Given the description of an element on the screen output the (x, y) to click on. 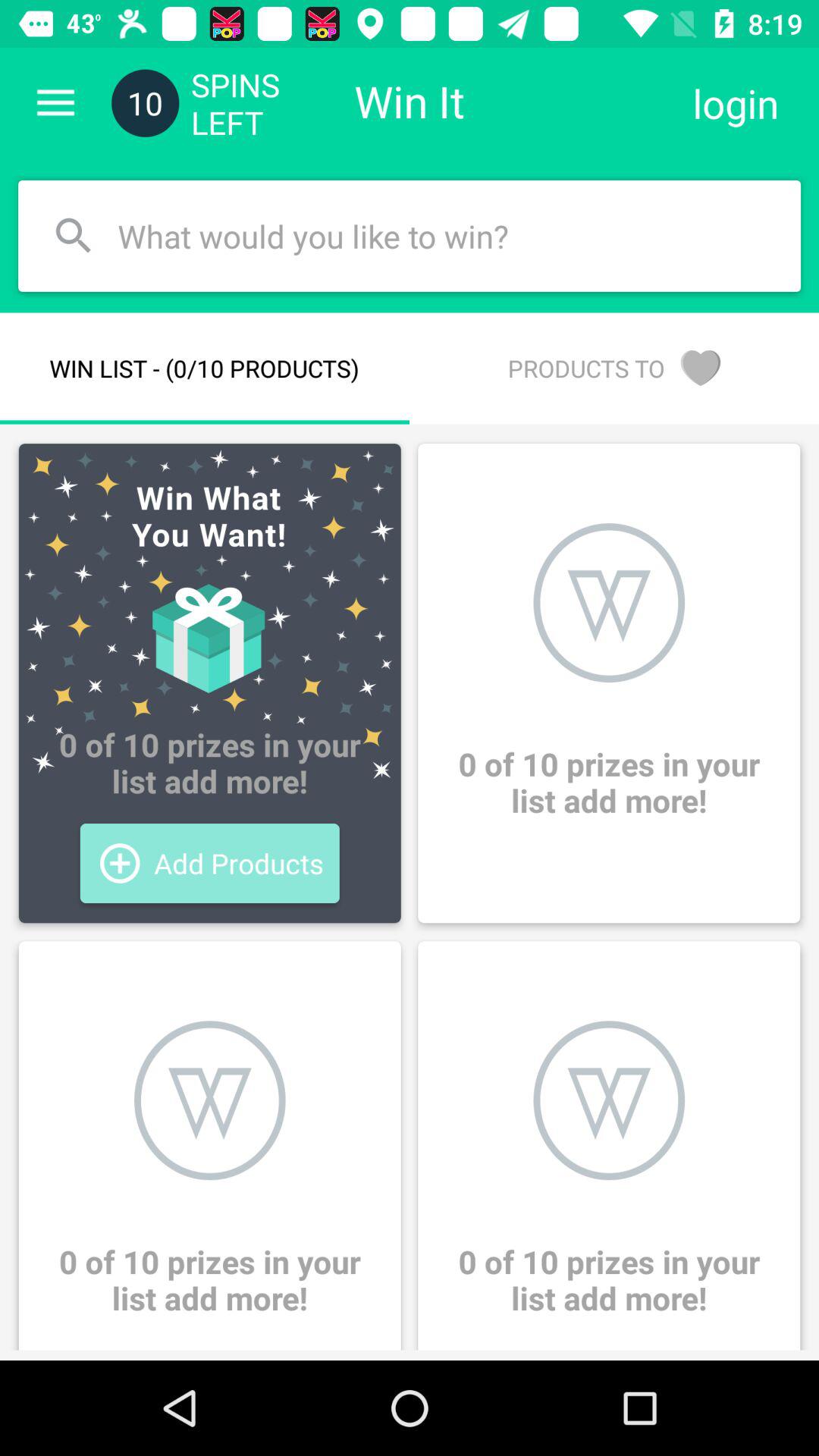
tap item next to 10 item (55, 103)
